Given the description of an element on the screen output the (x, y) to click on. 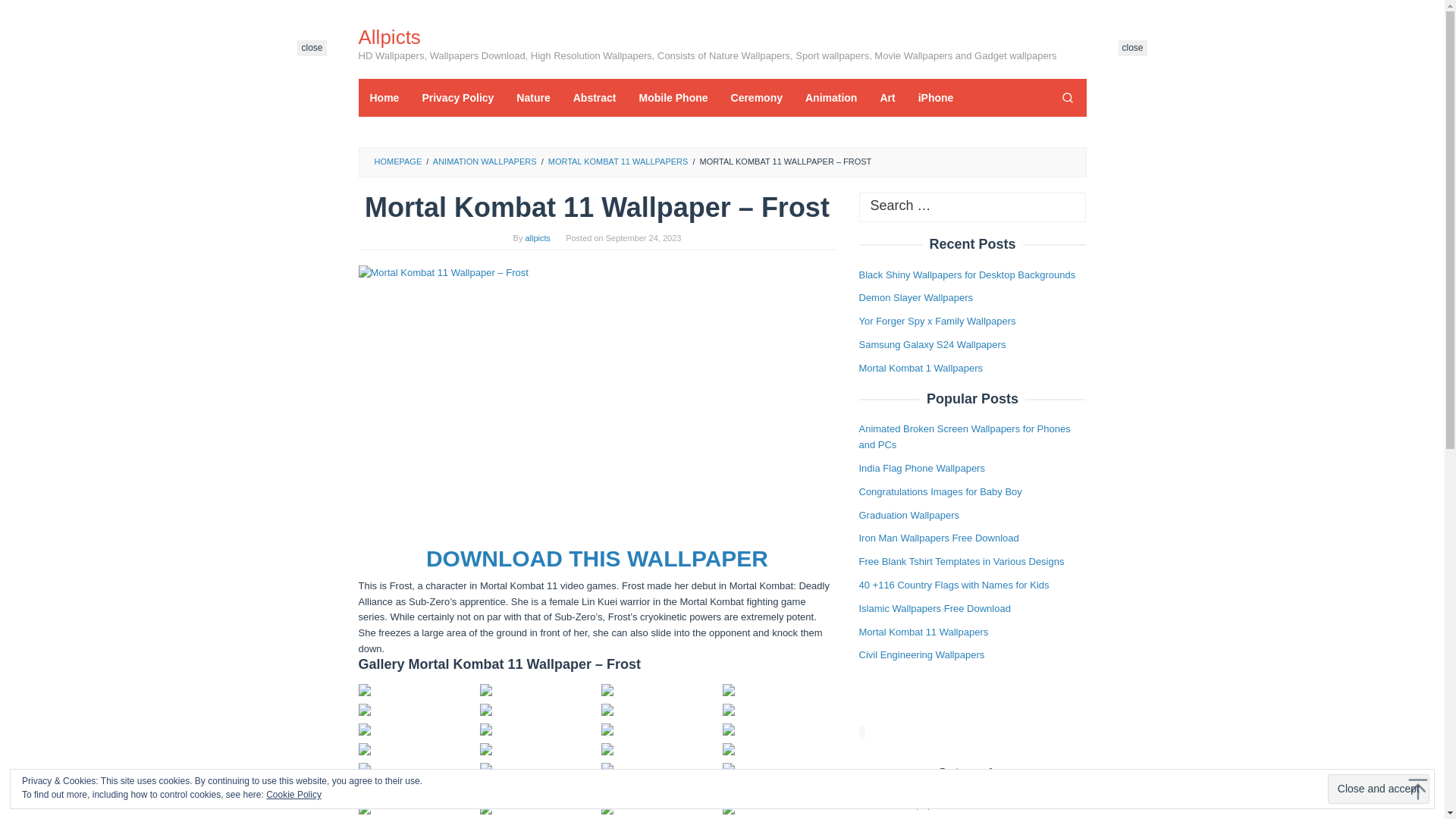
Permalink to: allpicts (537, 237)
Art (886, 97)
Ceremony (756, 97)
close (1132, 48)
Search (1067, 97)
Home (384, 97)
Abstract (594, 97)
close (1132, 48)
Allpicts (389, 36)
Nature (532, 97)
